Given the description of an element on the screen output the (x, y) to click on. 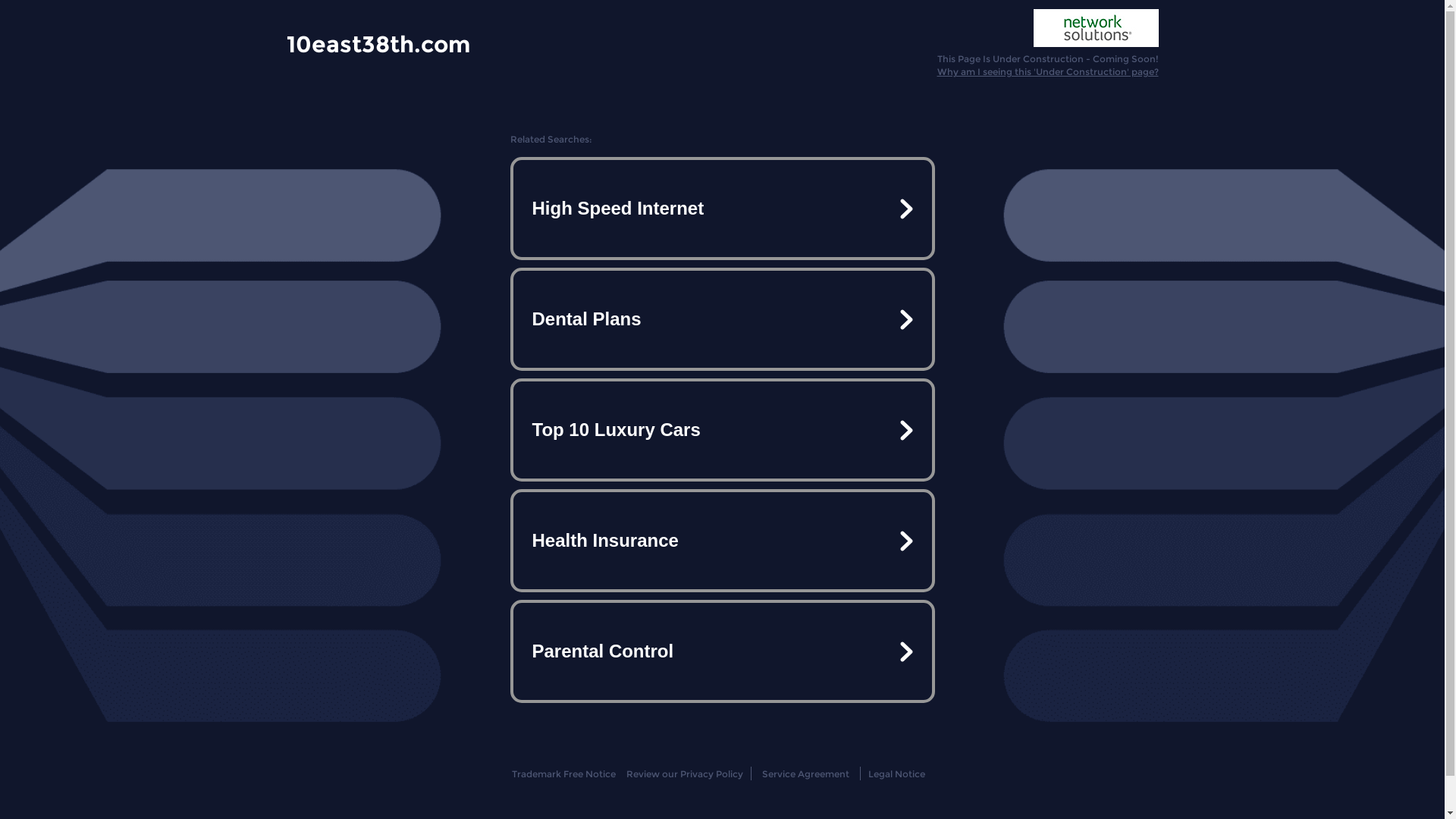
10east38th.com Element type: text (378, 43)
Parental Control Element type: text (721, 650)
Why am I seeing this 'Under Construction' page? Element type: text (1047, 71)
Dental Plans Element type: text (721, 318)
Top 10 Luxury Cars Element type: text (721, 429)
Legal Notice Element type: text (896, 773)
High Speed Internet Element type: text (721, 208)
Service Agreement Element type: text (805, 773)
Trademark Free Notice Element type: text (563, 773)
Review our Privacy Policy Element type: text (684, 773)
Health Insurance Element type: text (721, 540)
